Given the description of an element on the screen output the (x, y) to click on. 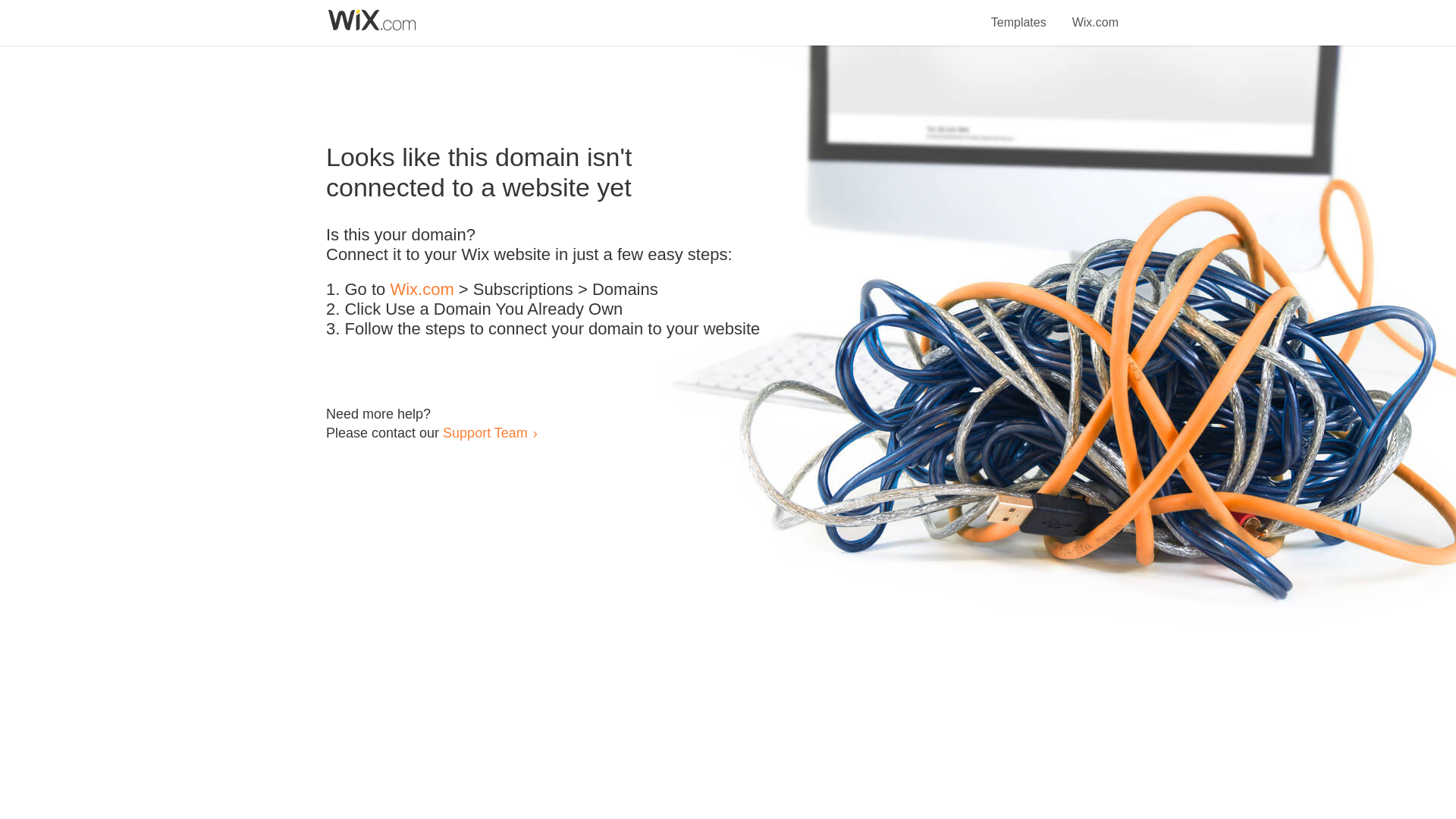
Templates (1018, 14)
Wix.com (421, 289)
Support Team (484, 432)
Wix.com (1095, 14)
